Given the description of an element on the screen output the (x, y) to click on. 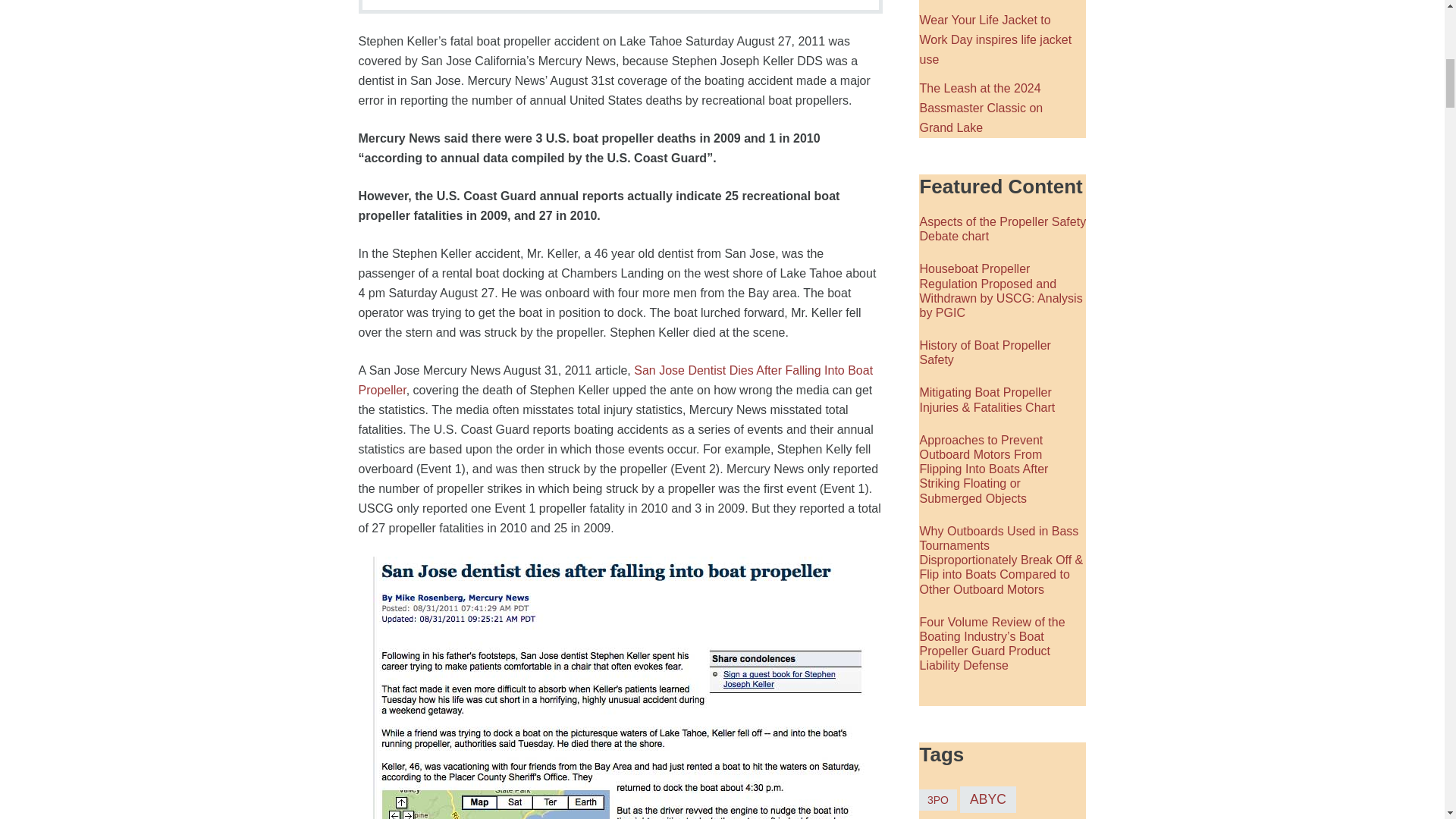
Propeller Accident Report San Jose Mercury News (619, 687)
Aspects of the Propeller Safety Debate chart (1002, 228)
